Given the description of an element on the screen output the (x, y) to click on. 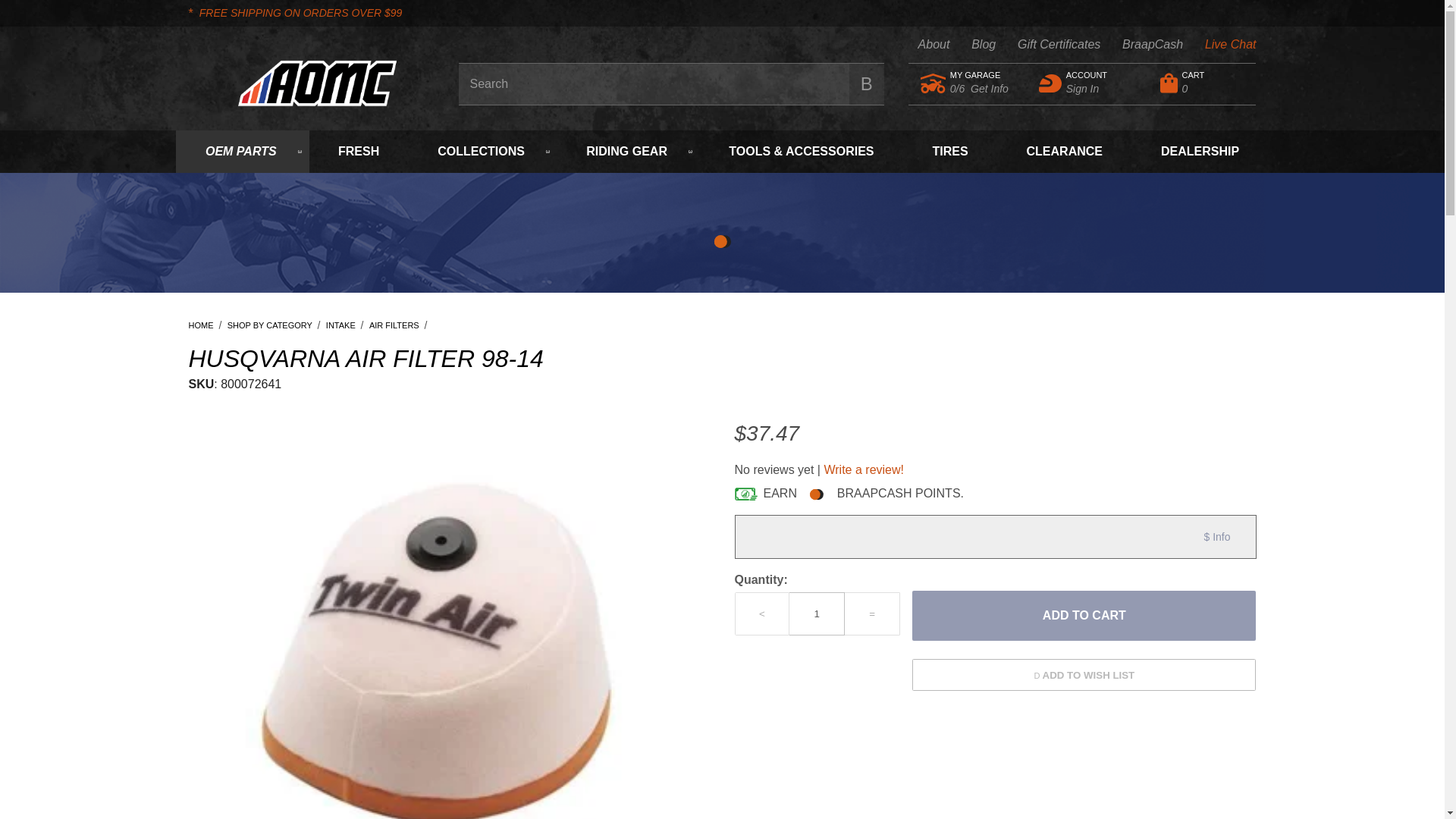
MY GARAGE (1204, 82)
Gift Certificates (979, 74)
Get Info (1047, 45)
Add To Cart (990, 88)
1 (1083, 615)
BraapCash (816, 613)
OEM PARTS (1141, 45)
About (242, 151)
